Given the description of an element on the screen output the (x, y) to click on. 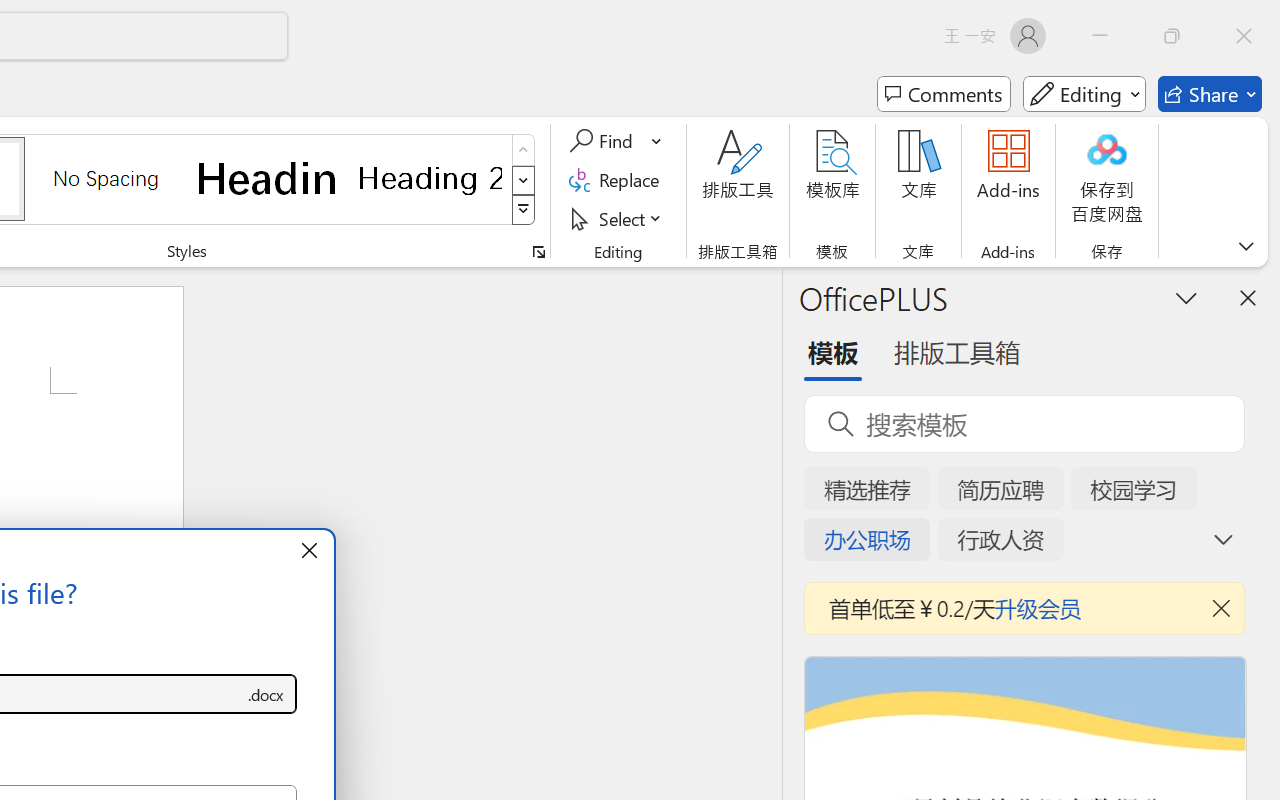
Replace... (617, 179)
Row up (523, 150)
Save as type (265, 694)
Mode (1083, 94)
Restore Down (1172, 36)
Task Pane Options (1186, 297)
Minimize (1099, 36)
Styles (523, 209)
Row Down (523, 180)
